Given the description of an element on the screen output the (x, y) to click on. 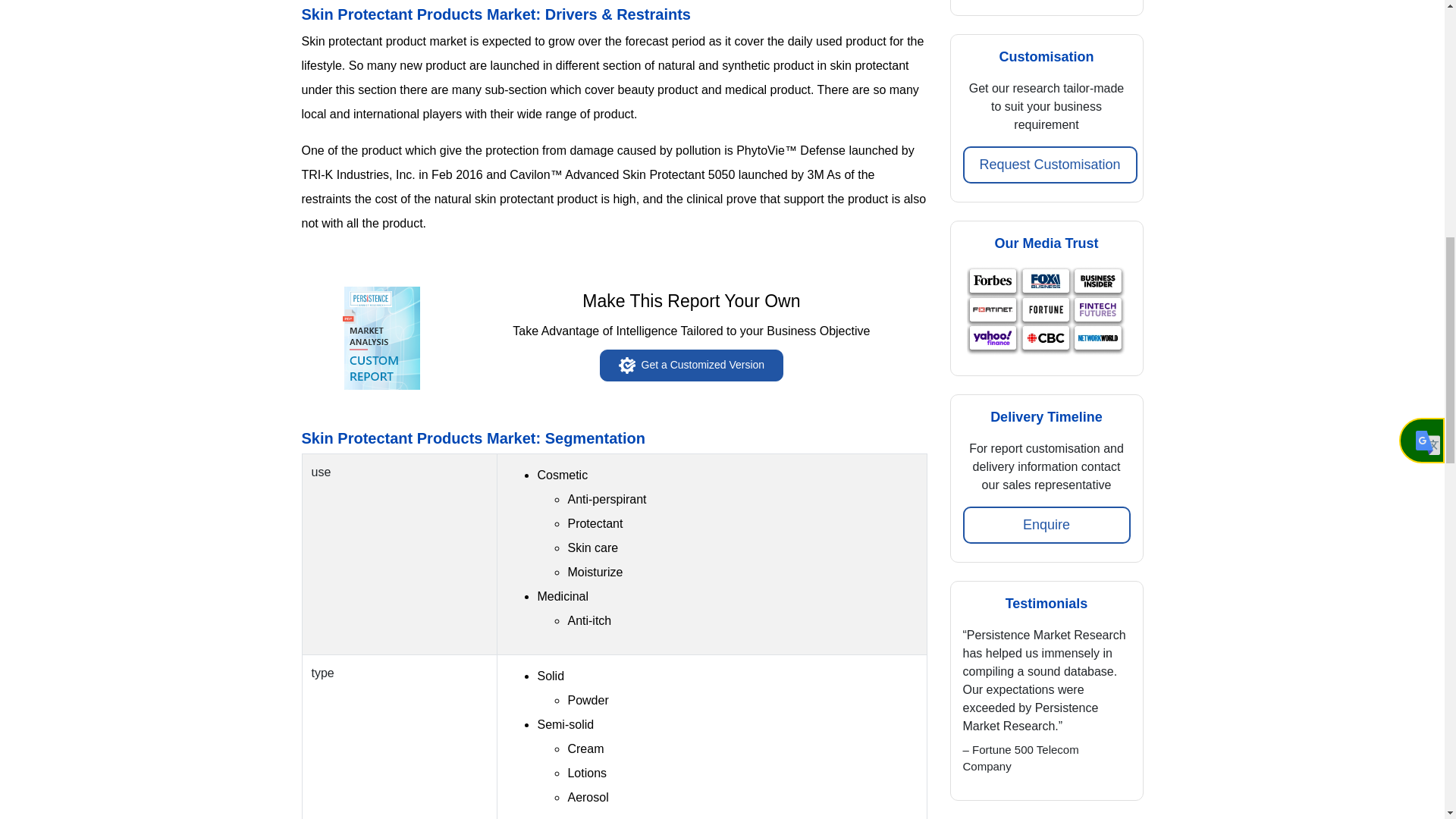
Enquire (1046, 524)
Request Customisation (1049, 164)
